Given the description of an element on the screen output the (x, y) to click on. 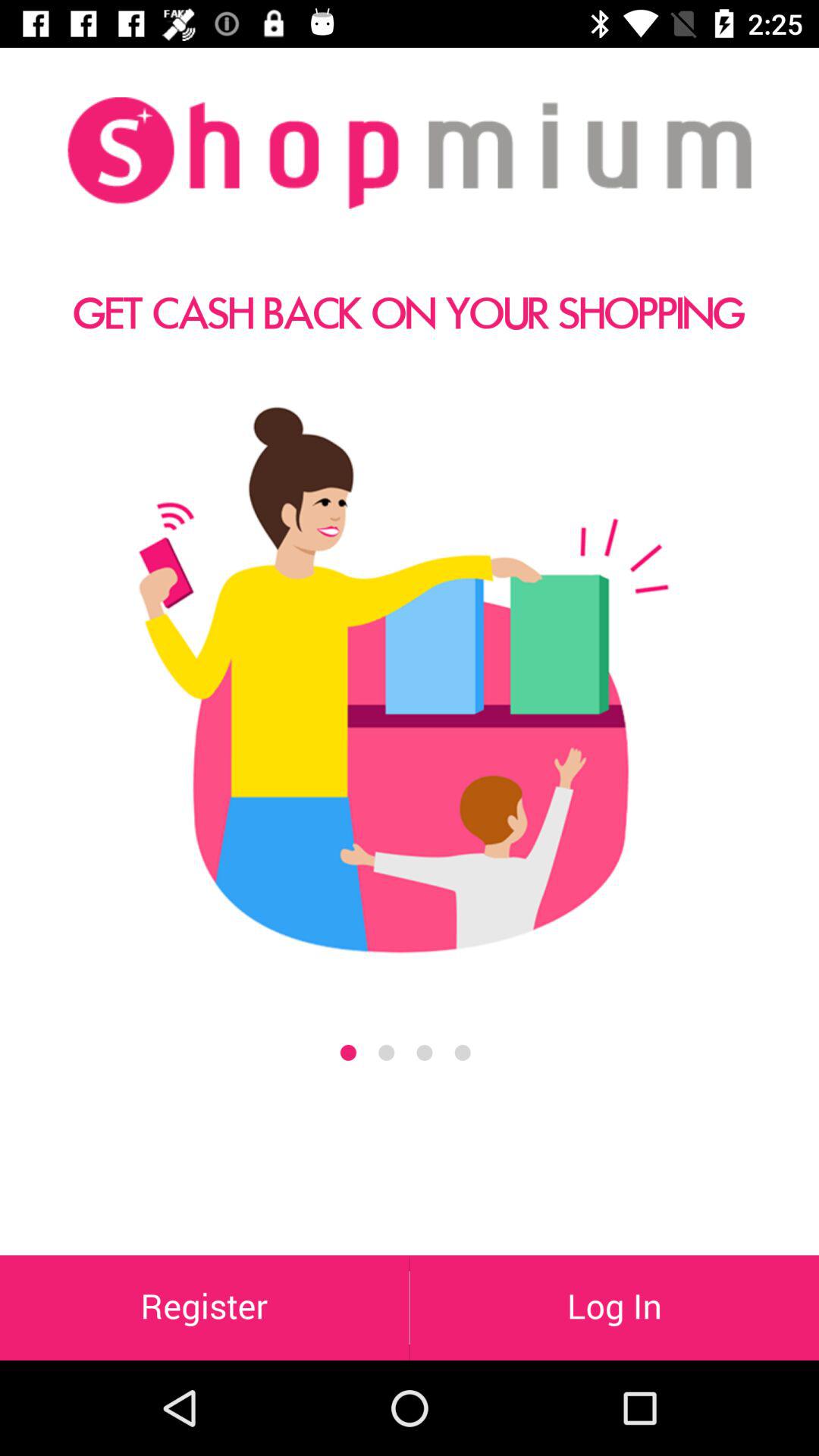
scroll to register icon (204, 1307)
